Given the description of an element on the screen output the (x, y) to click on. 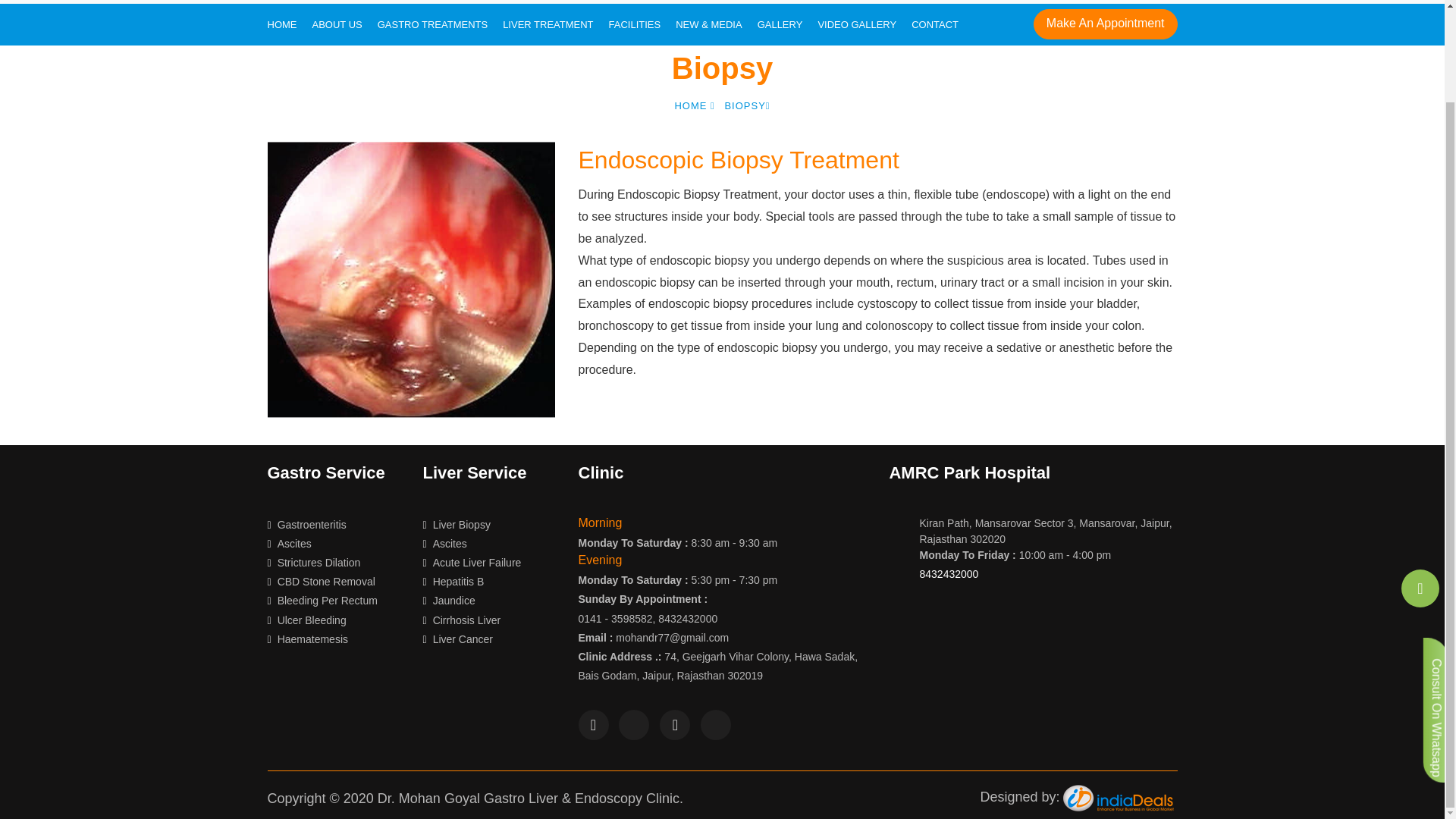
Ascites (288, 543)
VIDEO GALLERY (856, 24)
HOME (694, 105)
FACILITIES (634, 24)
Bleeding Per Rectum (321, 600)
CBD Stone Removal (320, 581)
Strictures Dilation (312, 562)
GALLERY (779, 24)
CONTACT (935, 24)
GASTRO TREATMENTS (432, 24)
